Given the description of an element on the screen output the (x, y) to click on. 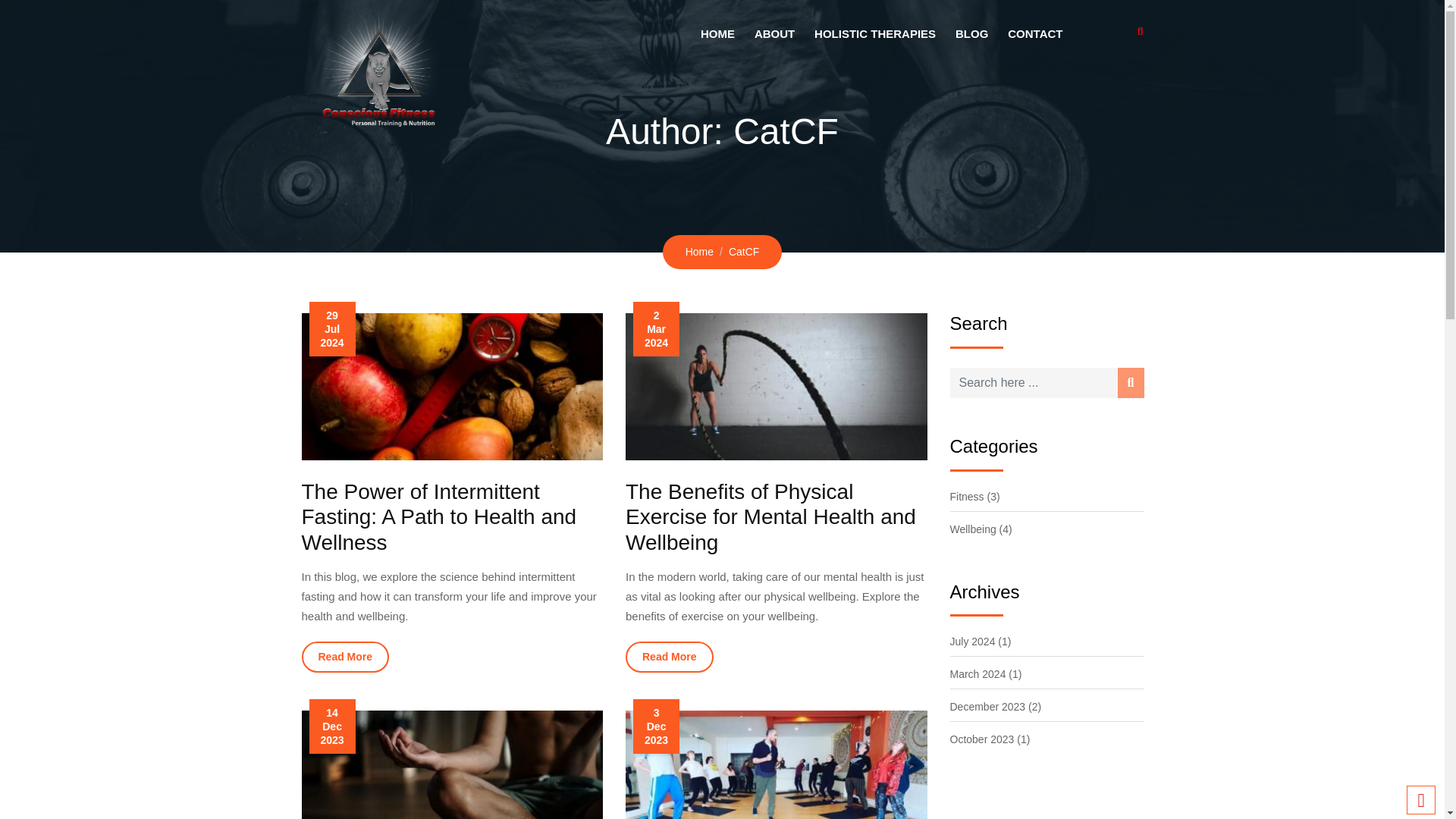
HOLISTIC THERAPIES (874, 33)
Read More (345, 656)
March 2024 (977, 674)
December 2023 (987, 706)
October 2023 (981, 739)
Home (699, 251)
CONTACT (1034, 33)
Read More (669, 656)
Wellbeing (972, 529)
